Given the description of an element on the screen output the (x, y) to click on. 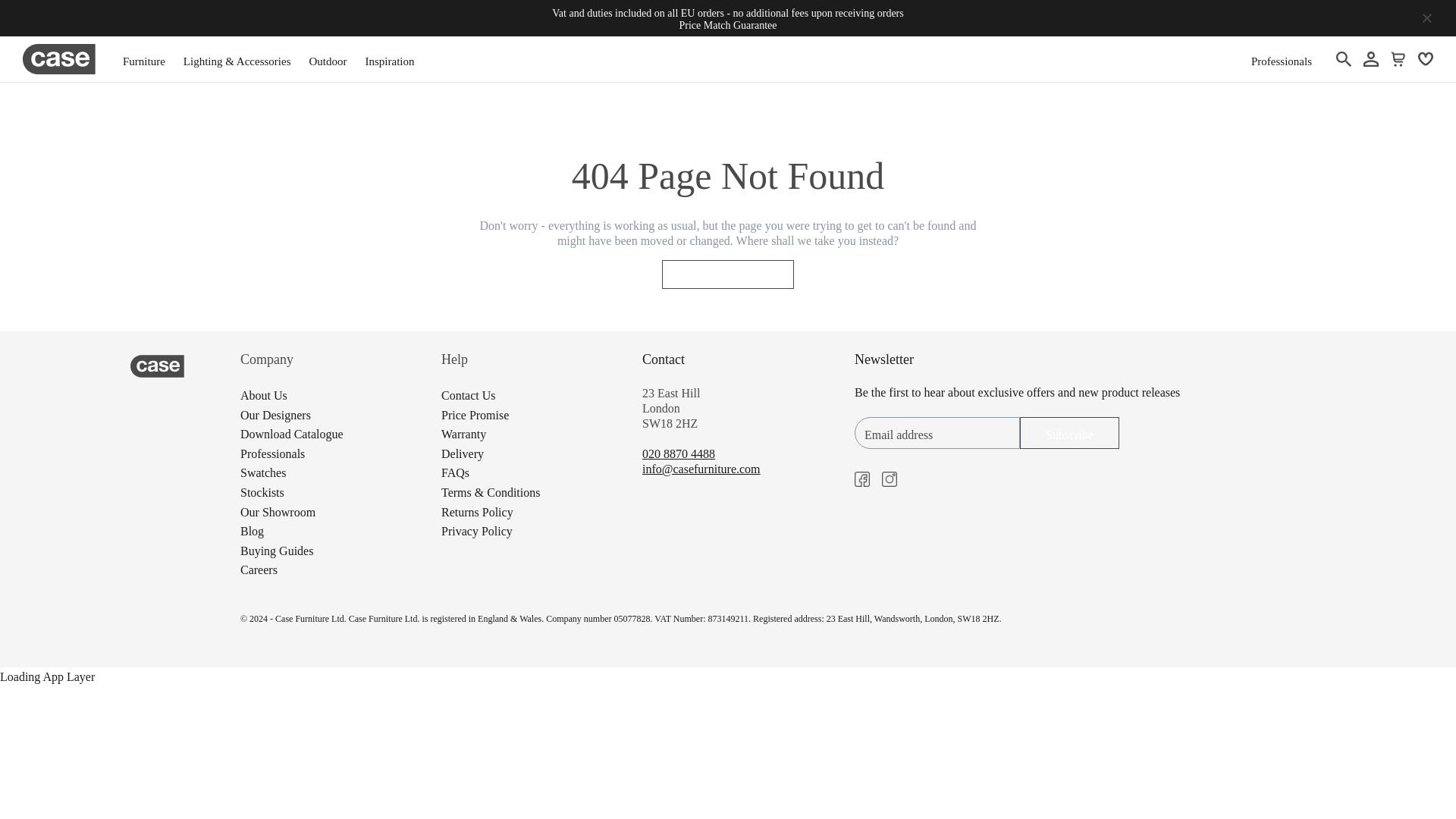
Furniture (143, 58)
Close announcement bar (1426, 18)
Case Furniture's Logo (59, 59)
Skip to content (9, 45)
